Given the description of an element on the screen output the (x, y) to click on. 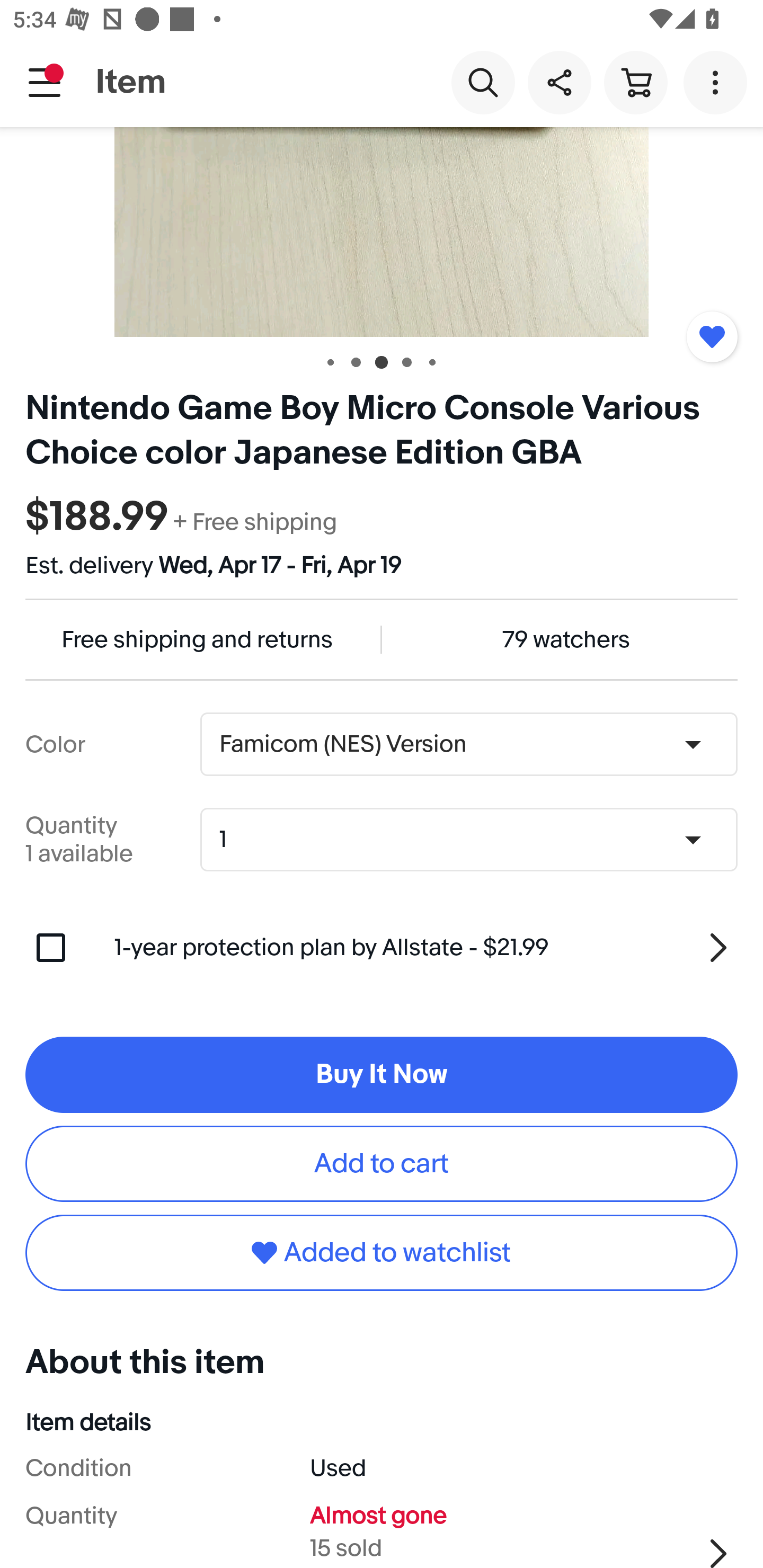
Main navigation, notification is pending, open (44, 82)
Search (482, 81)
Share this item (559, 81)
Cart button shopping cart (635, 81)
More options (718, 81)
Item image 3 of 12 (381, 232)
Added to watchlist (711, 336)
Color,Famicom (NES) Version Famicom (NES) Version (468, 743)
Quantity,1,1 available 1 (474, 839)
1-year protection plan by Allstate - $21.99 (425, 947)
Buy It Now (381, 1074)
Add to cart (381, 1163)
Added to watchlist (381, 1252)
